Given the description of an element on the screen output the (x, y) to click on. 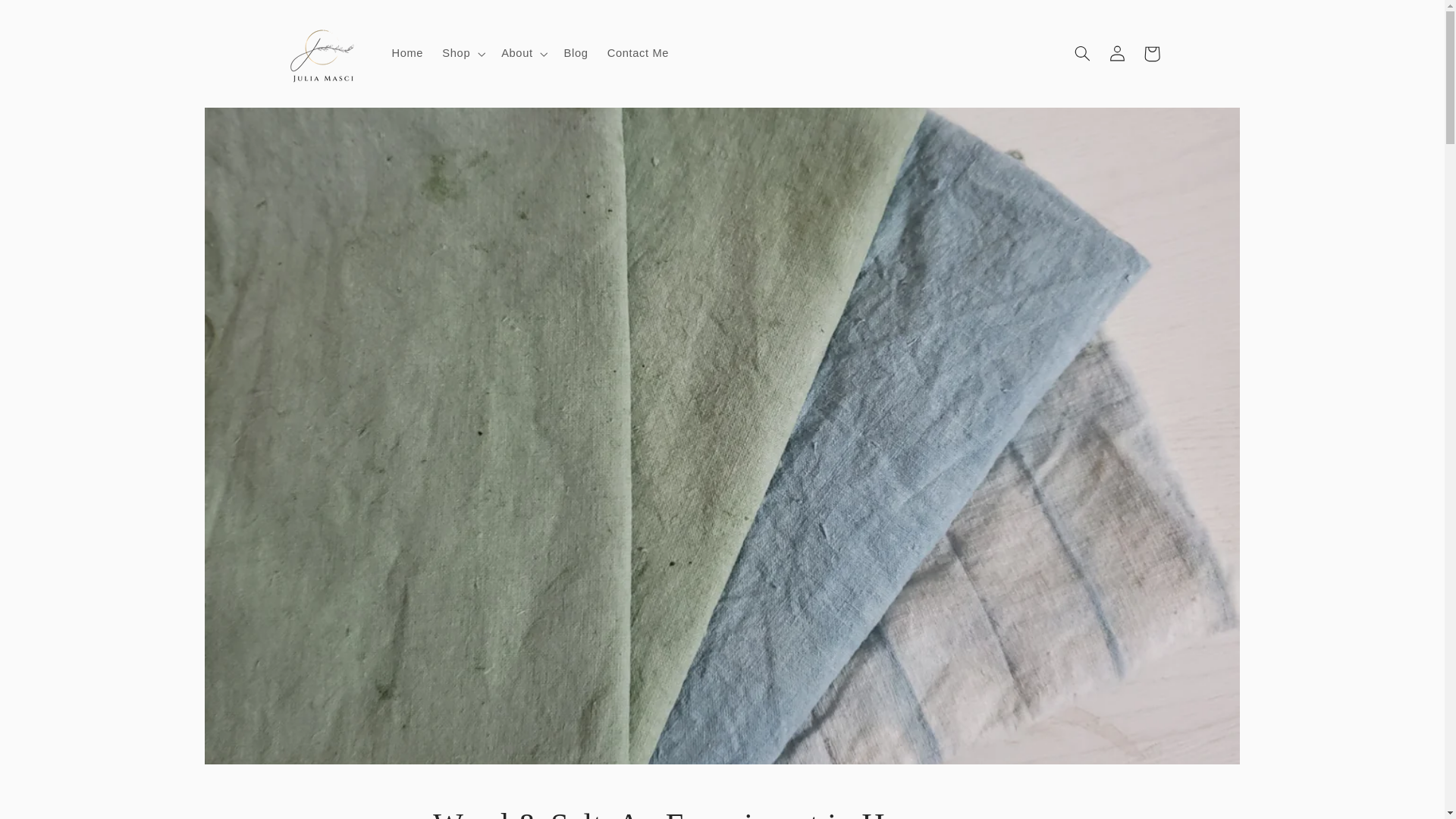
Blog (575, 53)
Home (406, 53)
Skip to content (48, 18)
